Given the description of an element on the screen output the (x, y) to click on. 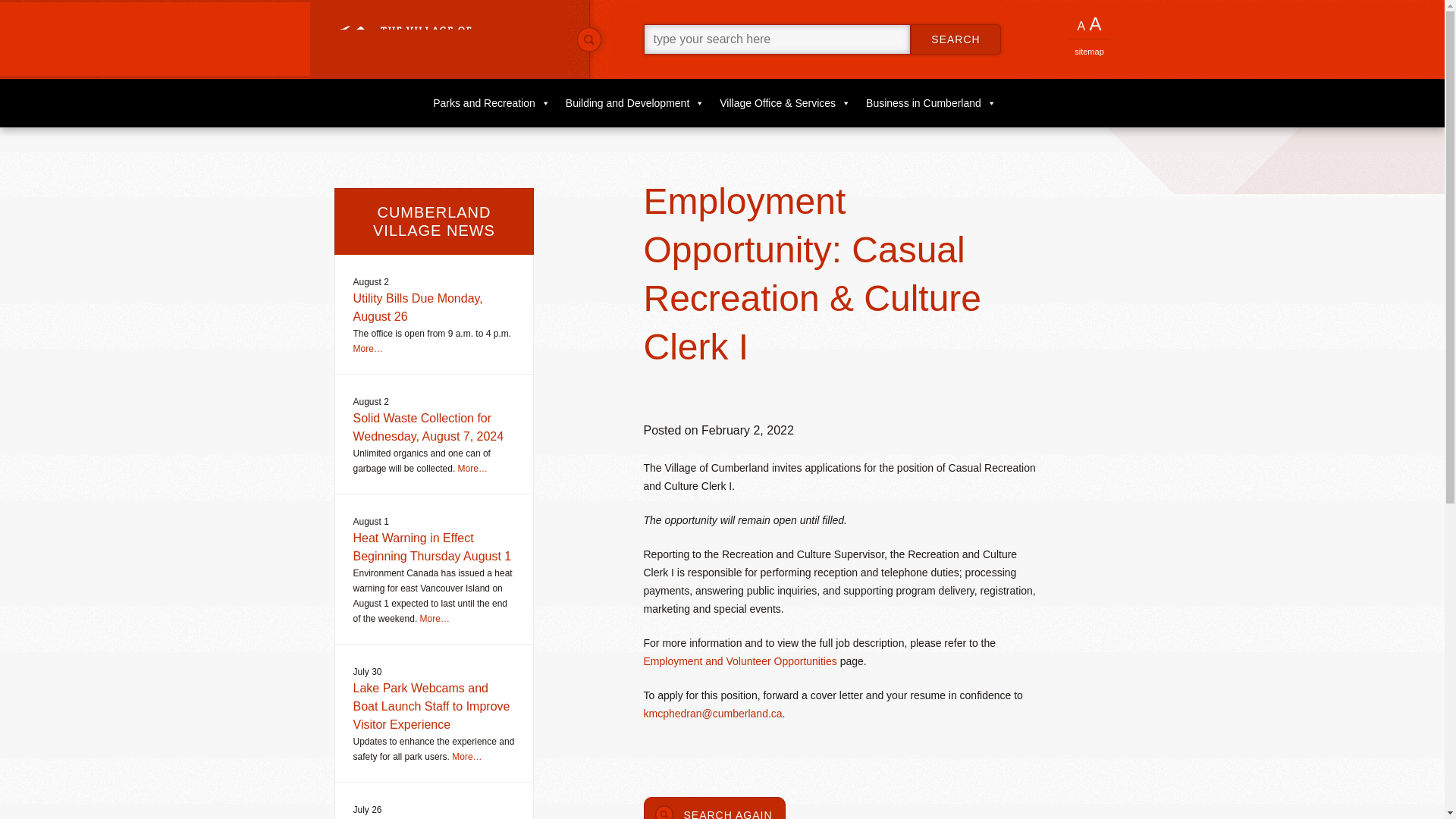
The Village of Cumberland (448, 39)
A A (1088, 25)
The complete list of pages on this website (1088, 47)
SEARCH (955, 39)
sitemap (1088, 47)
Building and Development (642, 102)
Parks and Recreation (499, 102)
The Village of Cumberland (448, 39)
